Given the description of an element on the screen output the (x, y) to click on. 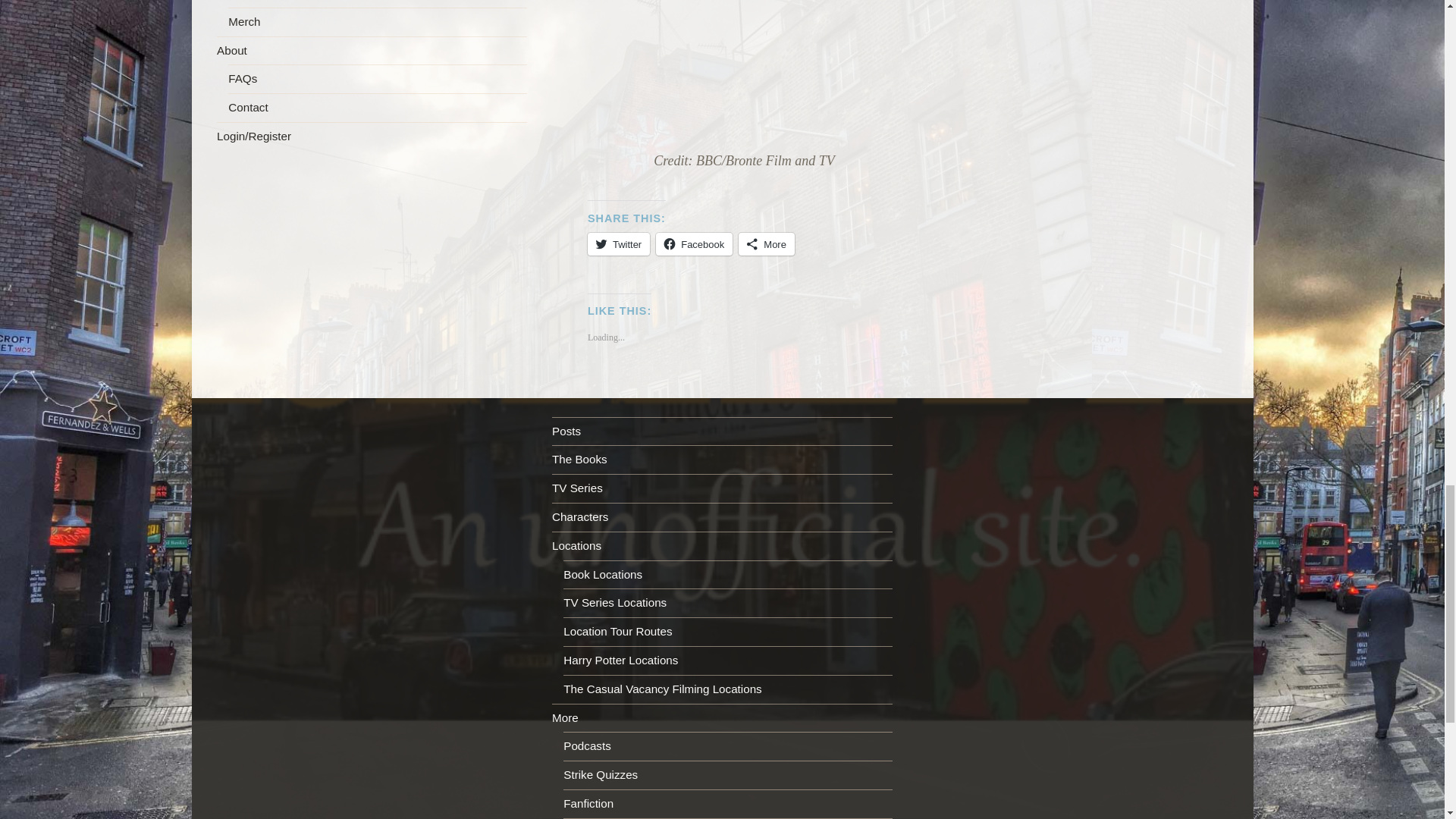
Click to share on Twitter (618, 243)
Twitter (618, 243)
Click to share on Facebook (694, 243)
Facebook (694, 243)
More (766, 243)
